Given the description of an element on the screen output the (x, y) to click on. 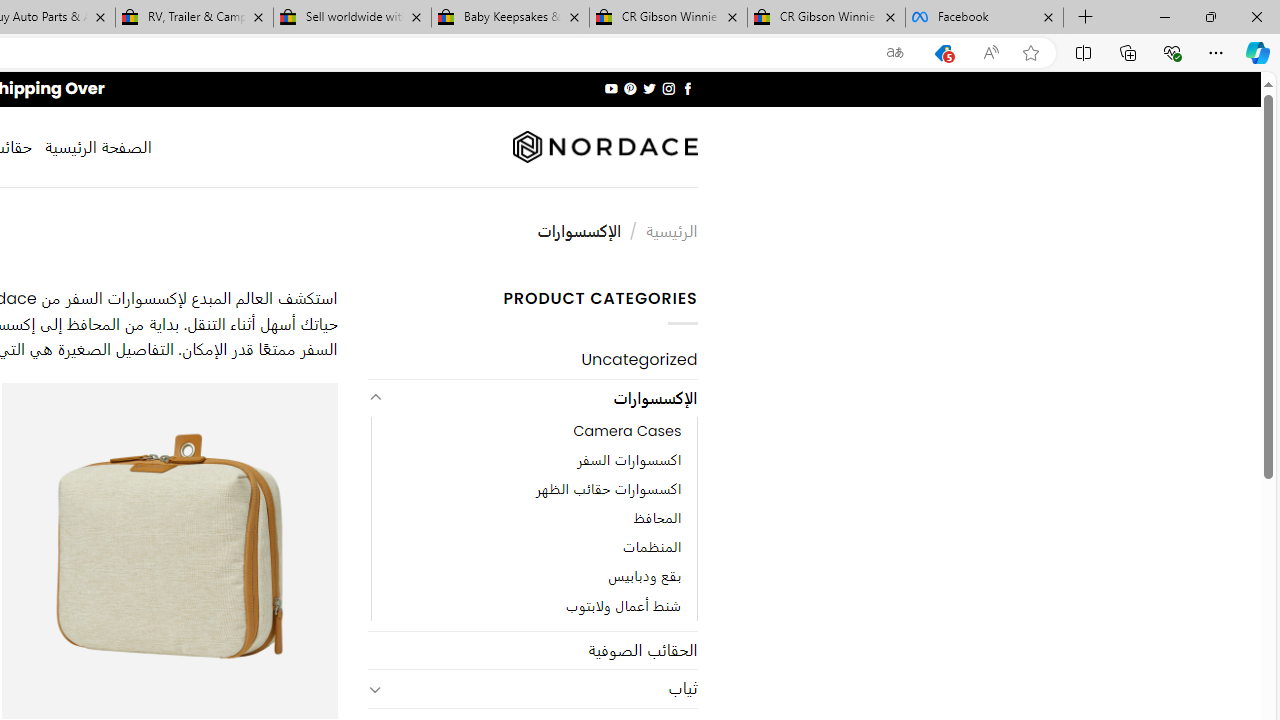
Camera Cases (534, 431)
New Tab (1085, 17)
Follow on Instagram (667, 88)
Nordace (604, 147)
Close tab (1048, 16)
Minimize (1164, 16)
